Given the description of an element on the screen output the (x, y) to click on. 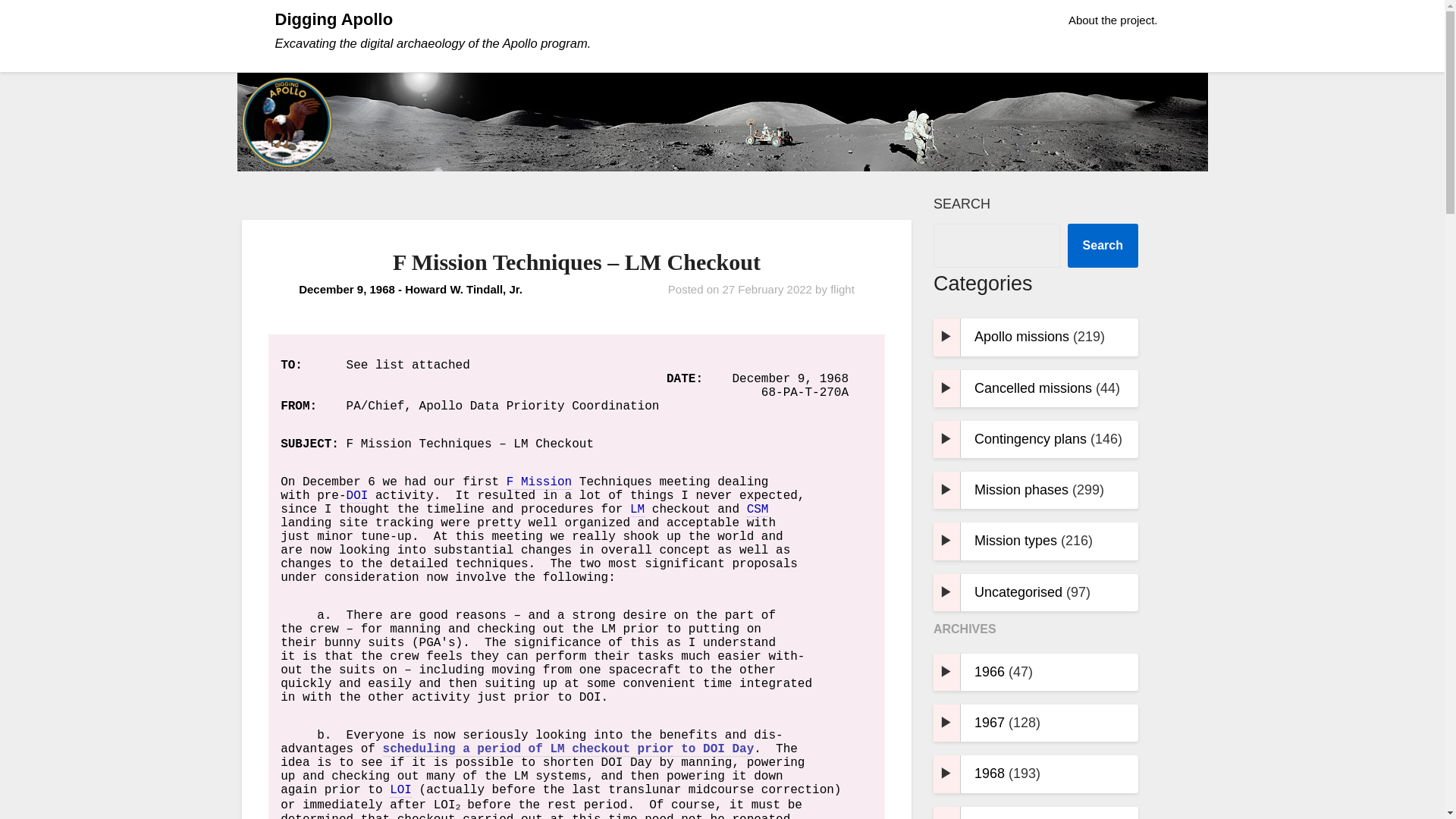
flight (841, 288)
Search (1102, 245)
Apollo missions (1021, 336)
scheduling a period of LM checkout prior to DOI Day (568, 749)
Can some pre-DOI activity be move to pre-LOI? (568, 749)
Apollo 10 (539, 482)
Descent Orbit Insertion (612, 762)
Lunar Orbit Insertion (401, 789)
Descent Orbit Insertion (357, 495)
Descent Orbit Insertion (714, 748)
